Given the description of an element on the screen output the (x, y) to click on. 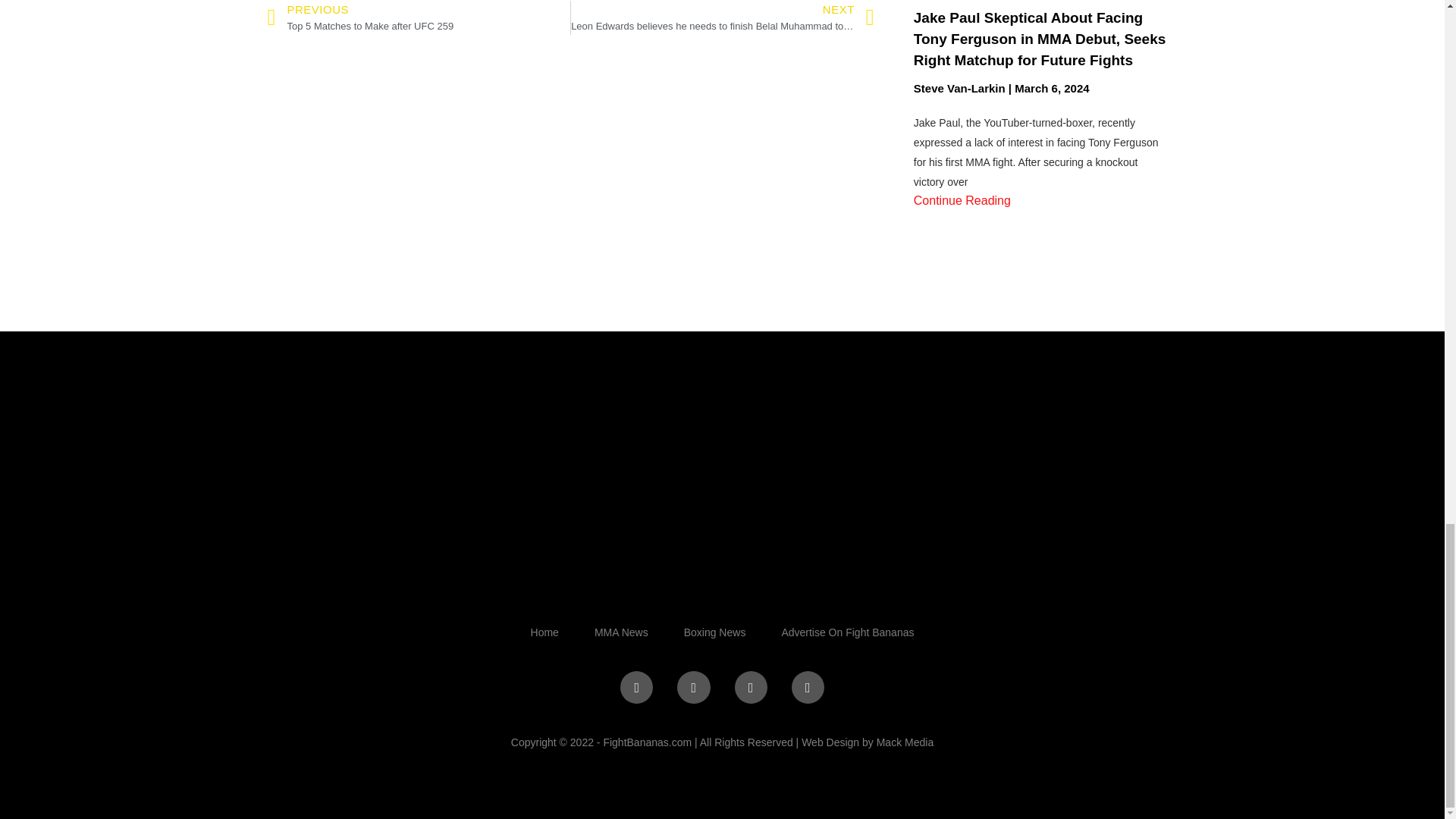
Continue Reading (962, 200)
Home (418, 17)
